Given the description of an element on the screen output the (x, y) to click on. 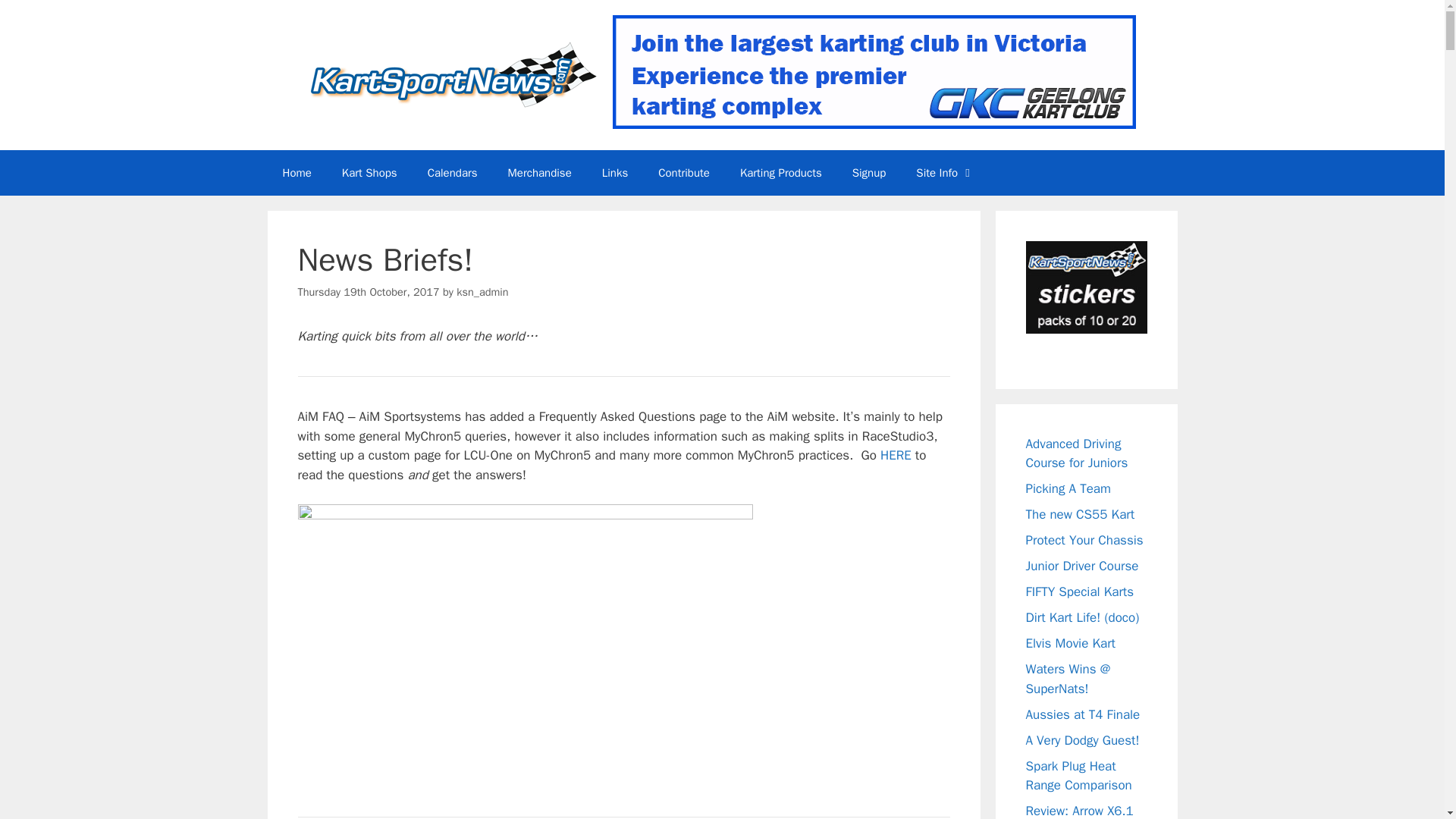
Kart Shops (369, 172)
Site Info (945, 172)
Calendars (452, 172)
Home (296, 172)
Signup (869, 172)
Links (614, 172)
HERE (895, 455)
Merchandise (539, 172)
Karting Products (781, 172)
Contribute (684, 172)
